Given the description of an element on the screen output the (x, y) to click on. 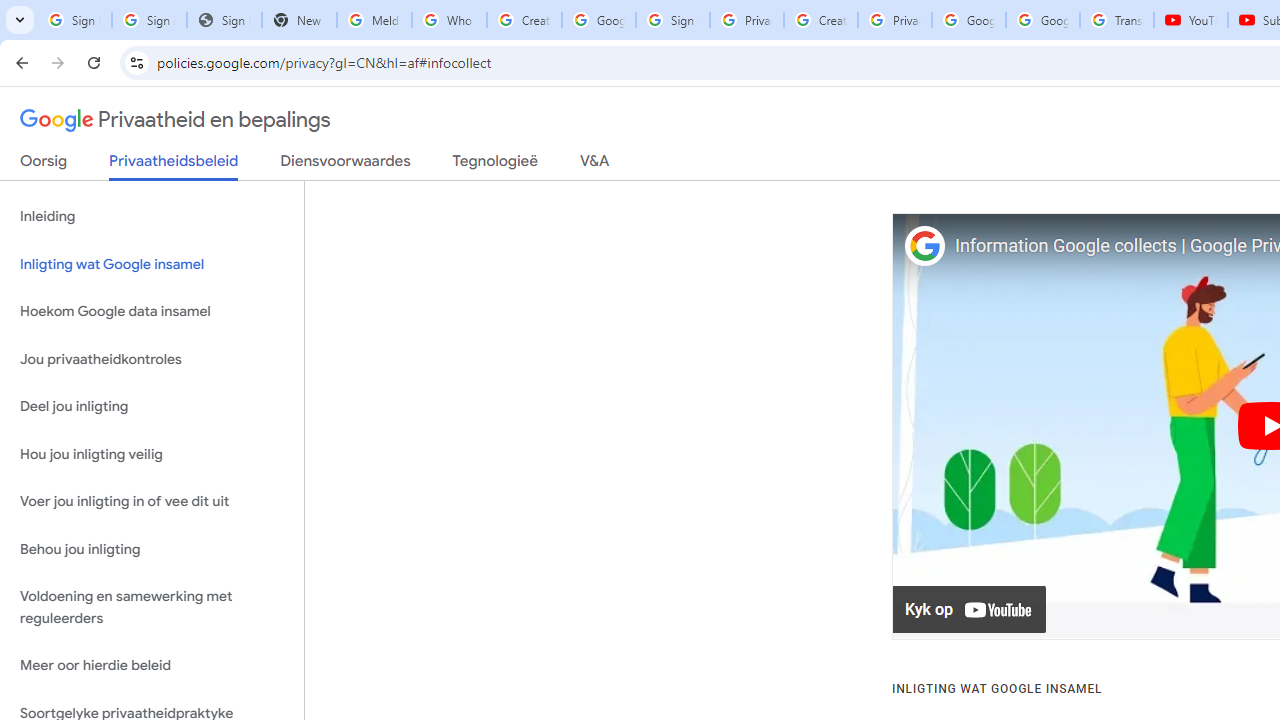
Inligting wat Google insamel (152, 263)
Create your Google Account (523, 20)
Jou privaatheidkontroles (152, 358)
Sign in - Google Accounts (74, 20)
V&A (594, 165)
Sign in - Google Accounts (673, 20)
Google Account (1043, 20)
